Given the description of an element on the screen output the (x, y) to click on. 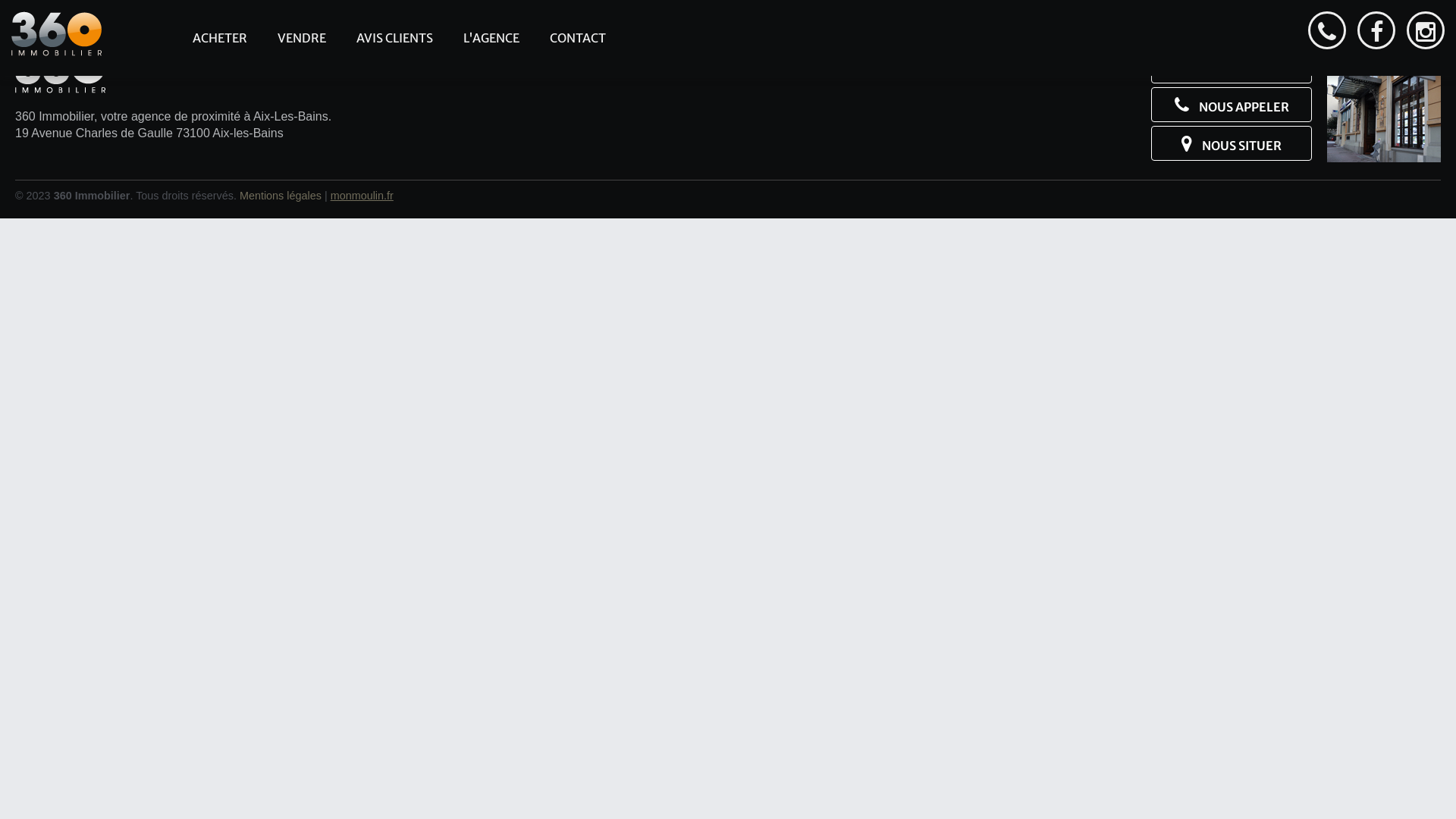
360 immobilier - accueil Element type: hover (56, 33)
CONTACT Element type: text (577, 37)
AVIS CLIENTS Element type: text (394, 37)
monmoulin.fr Element type: text (361, 195)
NOUS SITUER Element type: text (1231, 142)
Contactez nous Element type: hover (1327, 30)
L'AGENCE Element type: text (491, 37)
VENDRE Element type: text (301, 37)
ACHETER Element type: text (219, 37)
NOUS CONTACTER Element type: text (1231, 65)
NOUS APPELER Element type: text (1231, 104)
